Given the description of an element on the screen output the (x, y) to click on. 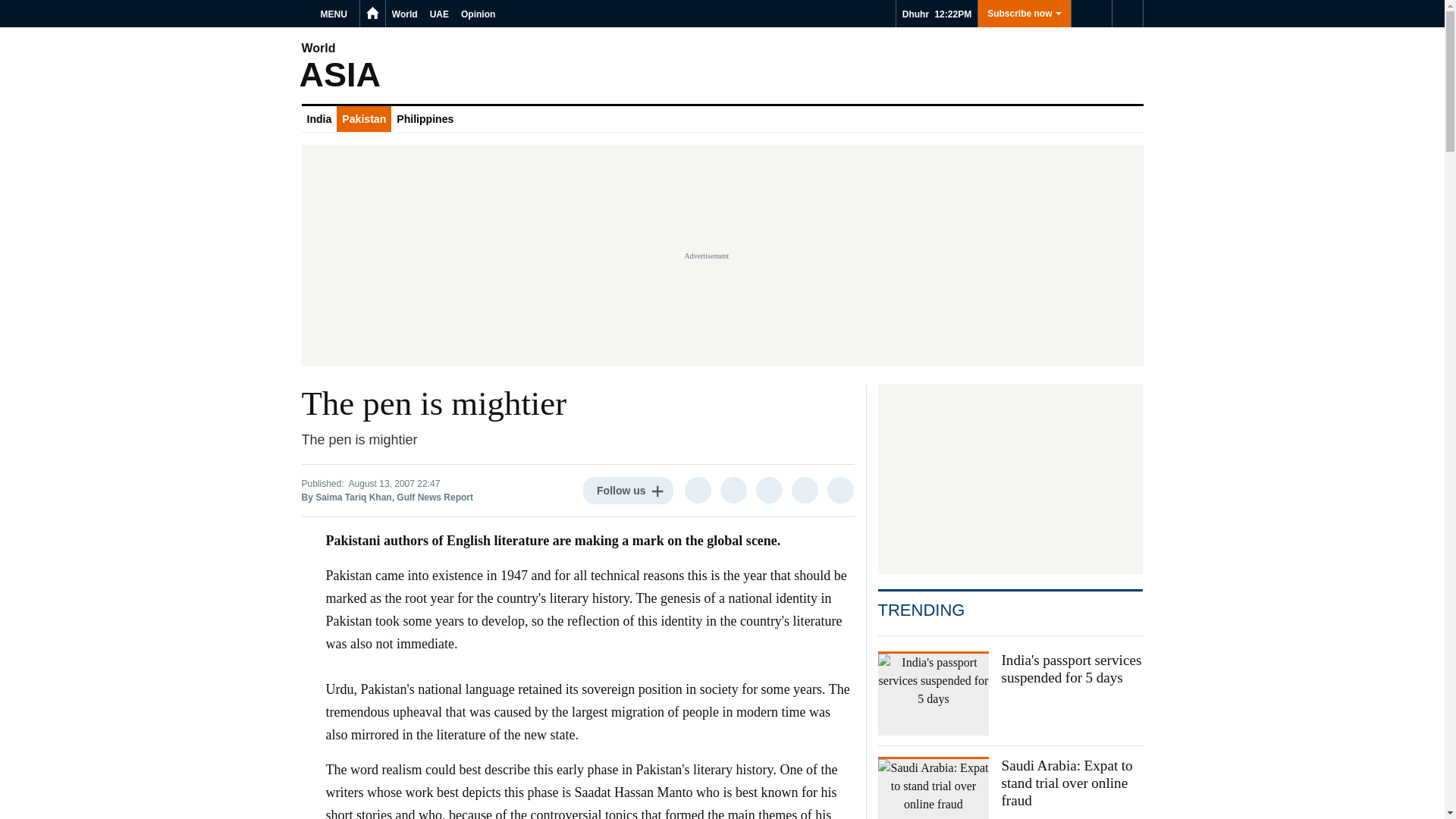
World (404, 13)
Dhuhr 12:22PM (936, 13)
UAE (438, 13)
MENU (336, 13)
Opinion (477, 13)
Subscribe now (1024, 13)
